Given the description of an element on the screen output the (x, y) to click on. 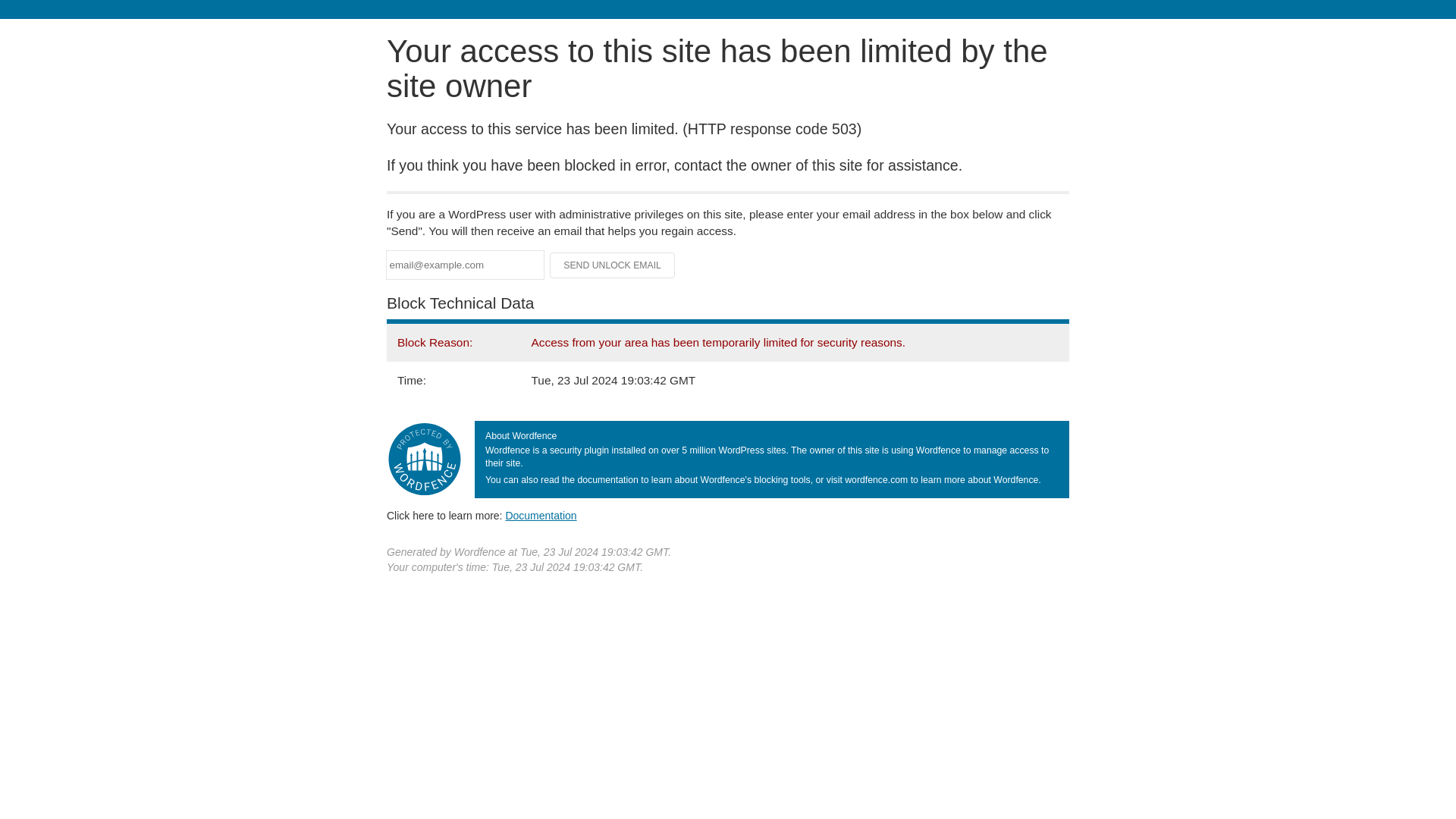
Documentation (540, 515)
Send Unlock Email (612, 265)
Send Unlock Email (612, 265)
